Given the description of an element on the screen output the (x, y) to click on. 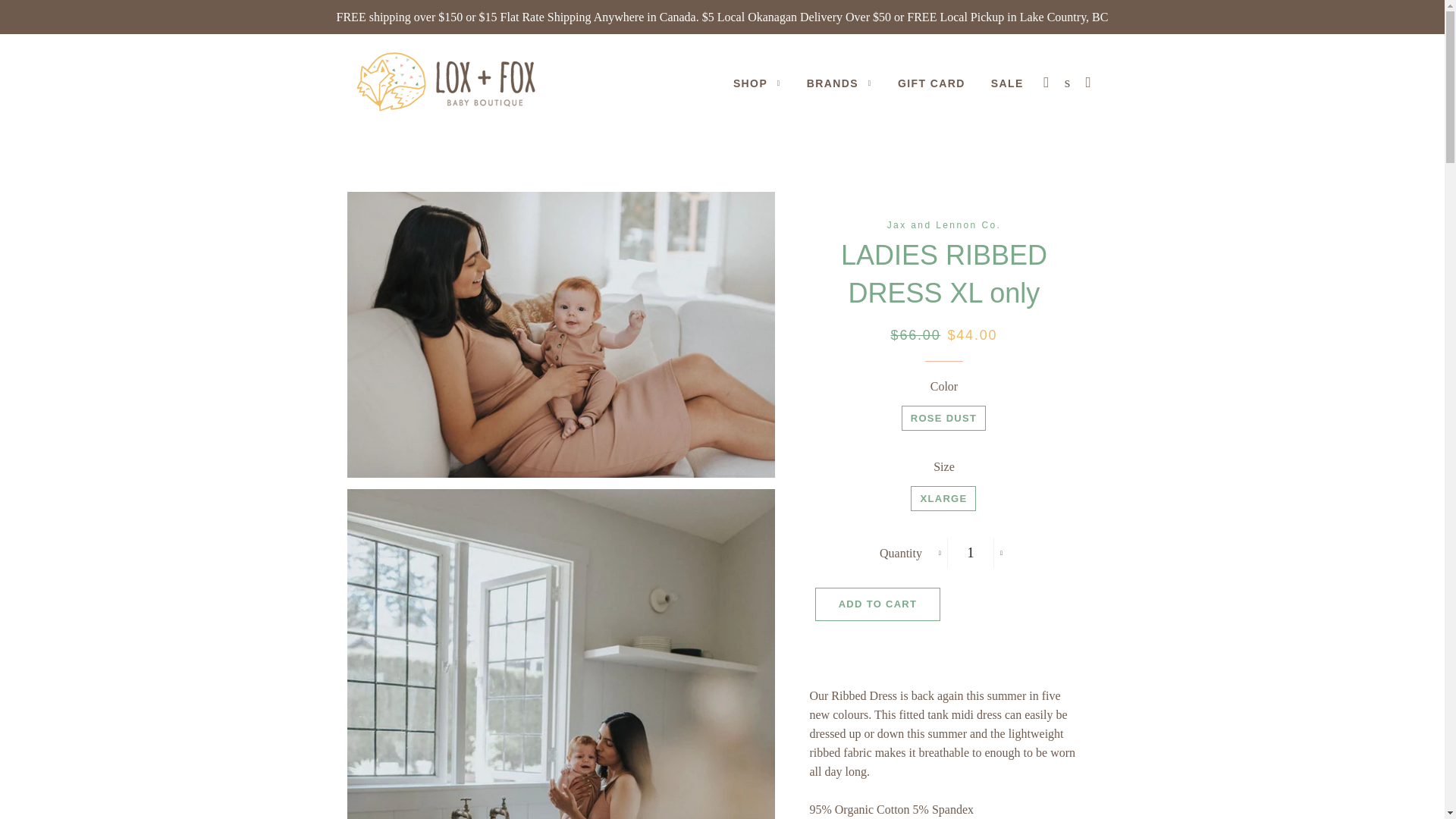
1 (971, 552)
